Given the description of an element on the screen output the (x, y) to click on. 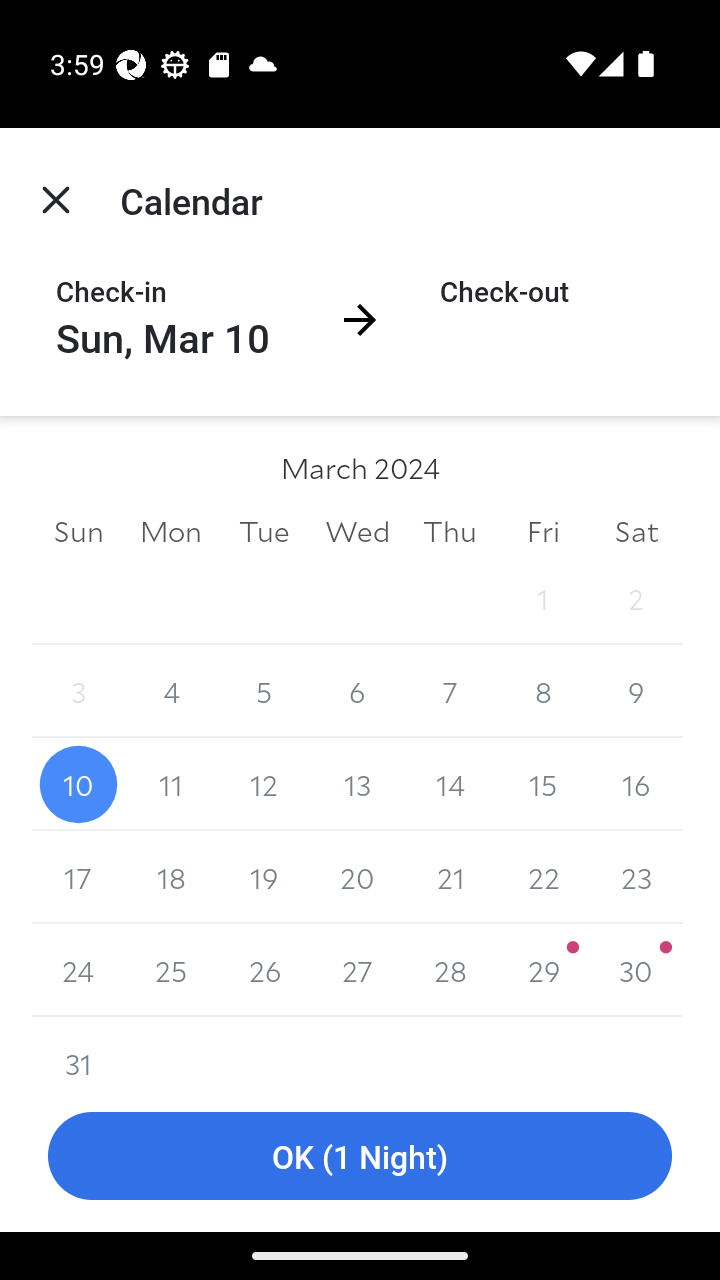
Sun (78, 530)
Mon (171, 530)
Tue (264, 530)
Wed (357, 530)
Thu (449, 530)
Fri (542, 530)
Sat (636, 530)
29 29 March 2024 (449, 598)
1 1 March 2024 (542, 598)
2 2 March 2024 (636, 598)
3 3 March 2024 (78, 691)
4 4 March 2024 (171, 691)
5 5 March 2024 (264, 691)
6 6 March 2024 (357, 691)
7 7 March 2024 (449, 691)
8 8 March 2024 (542, 691)
9 9 March 2024 (636, 691)
10 10 March 2024 (78, 784)
11 11 March 2024 (171, 784)
12 12 March 2024 (264, 784)
13 13 March 2024 (357, 784)
14 14 March 2024 (449, 784)
15 15 March 2024 (542, 784)
16 16 March 2024 (636, 784)
17 17 March 2024 (78, 877)
18 18 March 2024 (171, 877)
19 19 March 2024 (264, 877)
20 20 March 2024 (357, 877)
21 21 March 2024 (449, 877)
22 22 March 2024 (542, 877)
23 23 March 2024 (636, 877)
24 24 March 2024 (78, 970)
25 25 March 2024 (171, 970)
26 26 March 2024 (264, 970)
27 27 March 2024 (357, 970)
28 28 March 2024 (449, 970)
29 29 March 2024 (542, 970)
30 30 March 2024 (636, 970)
31 31 March 2024 (78, 1048)
OK (1 Night) (359, 1156)
